Given the description of an element on the screen output the (x, y) to click on. 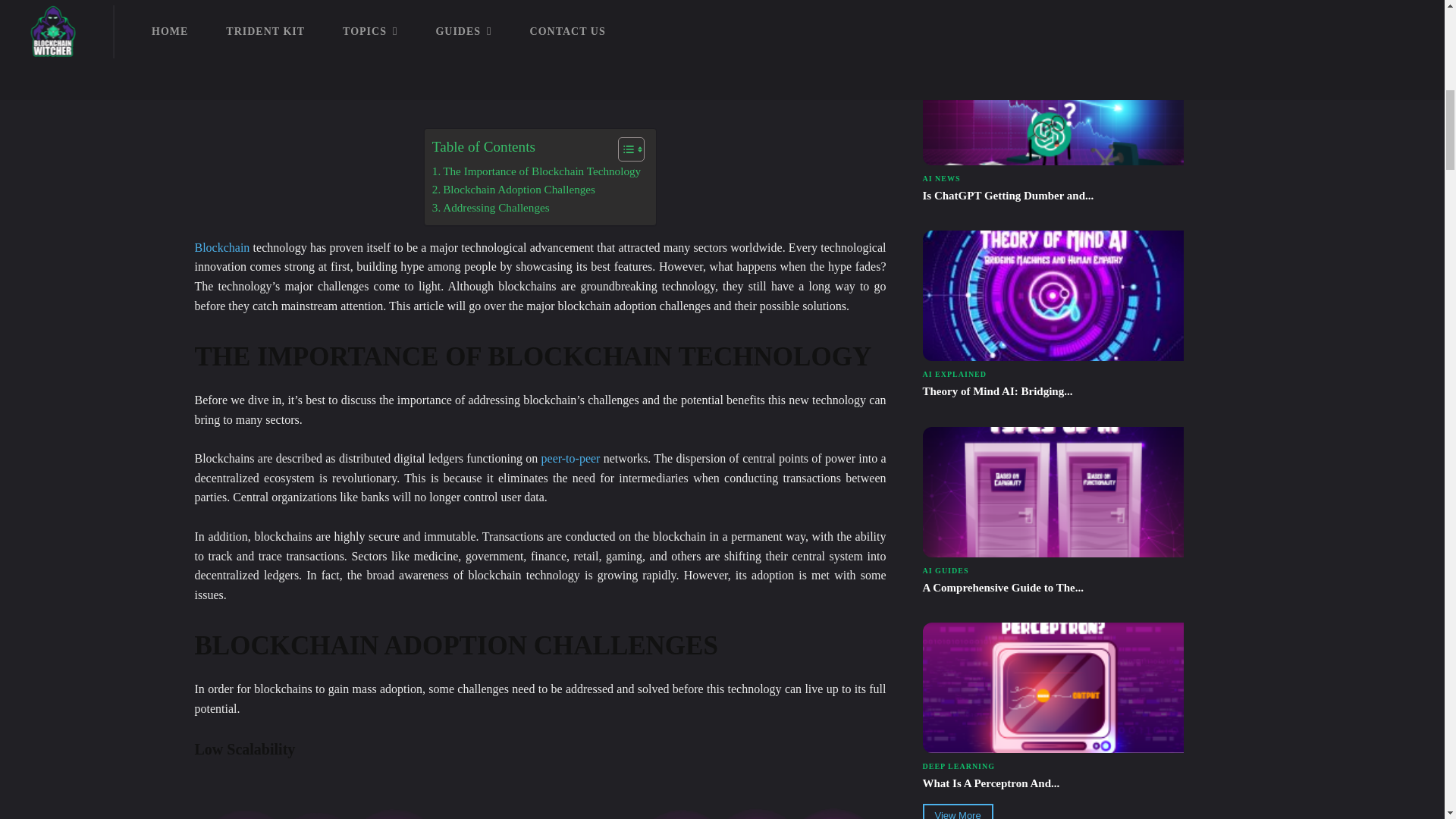
Blockchain Adoption Challenges (513, 189)
Addressing Challenges (491, 208)
Blockchain Adoption Challenges (539, 37)
The Importance of Blockchain Technology (536, 171)
